Given the description of an element on the screen output the (x, y) to click on. 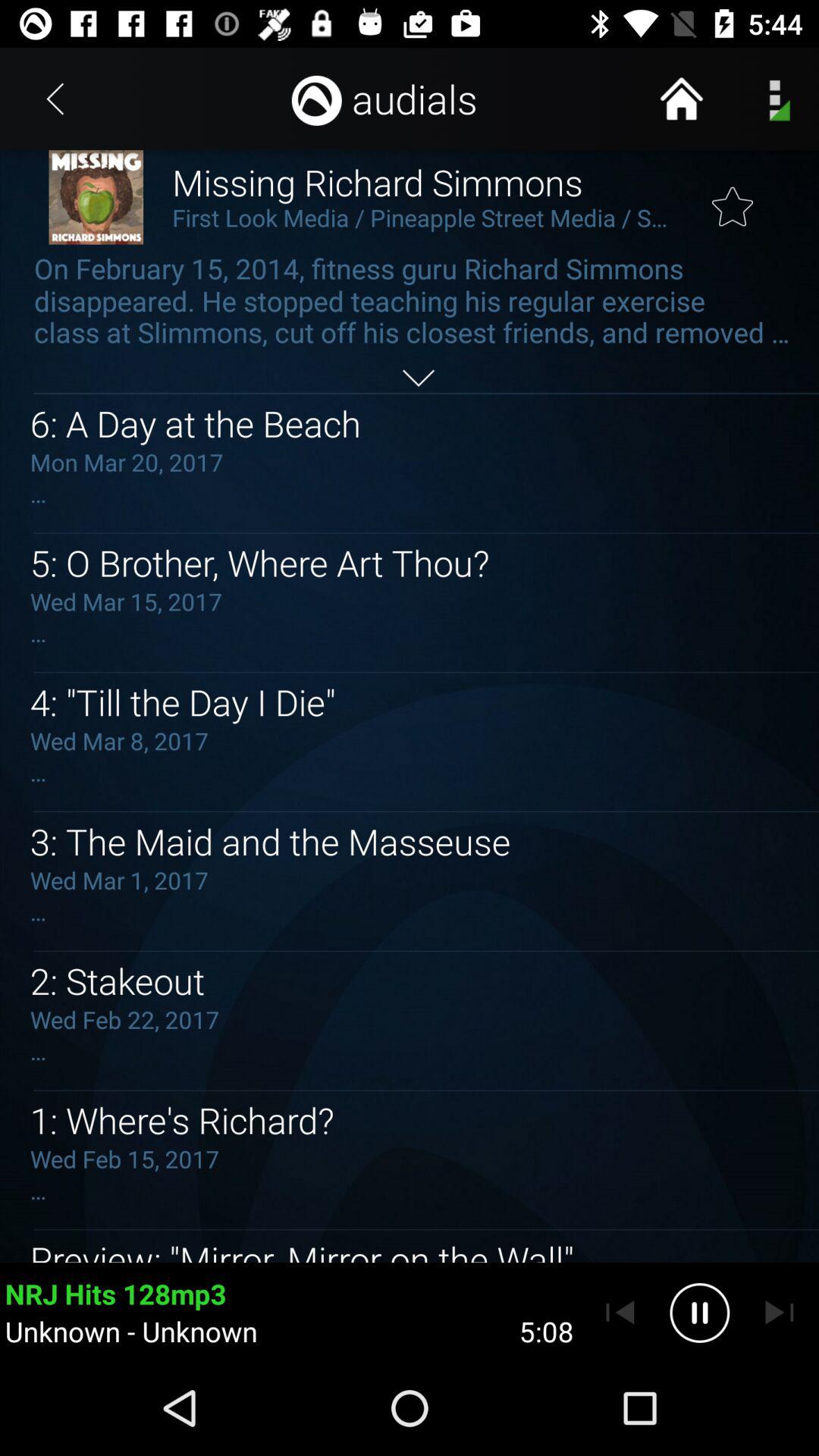
press the item to the right of the missing richard simmons (732, 197)
